Given the description of an element on the screen output the (x, y) to click on. 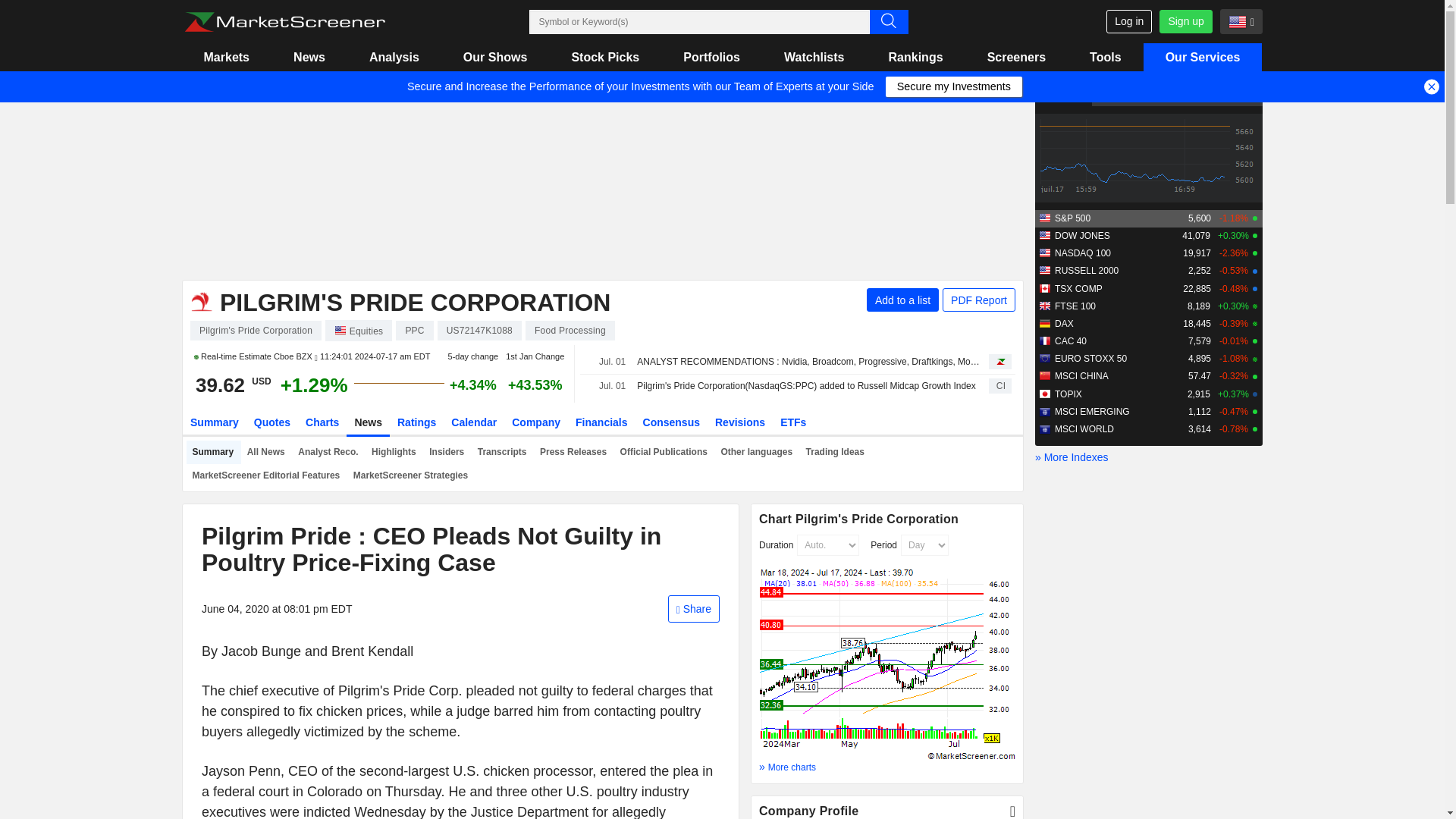
Sign up (1184, 21)
Marketscreener: stock market and financial news (284, 21)
Log in (1128, 21)
Advanced search (888, 21)
Markets (226, 57)
